Given the description of an element on the screen output the (x, y) to click on. 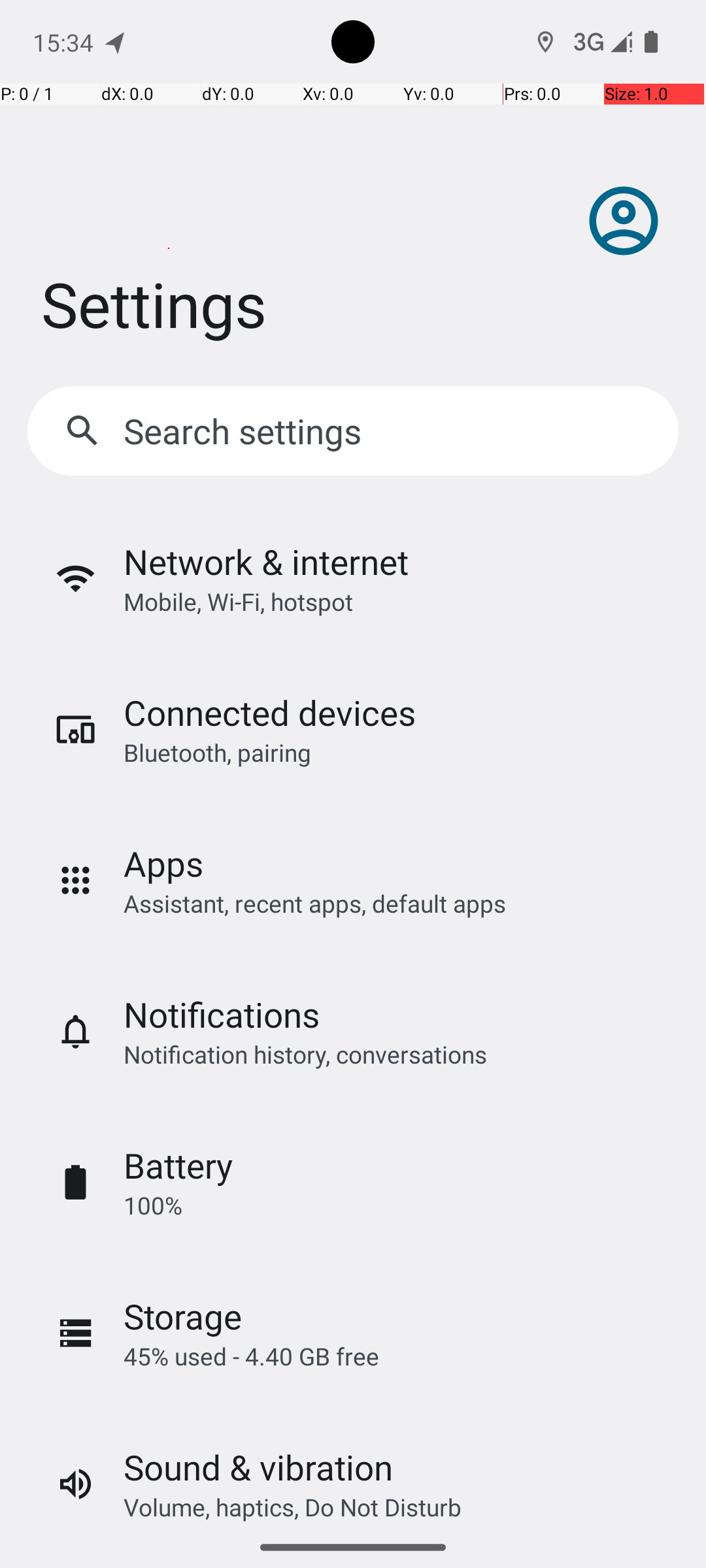
Profile picture, double tap to open Google Account Element type: android.widget.ImageView (623, 220)
Search settings Element type: android.widget.TextView (245, 430)
Network & internet Element type: android.widget.TextView (265, 561)
Mobile, Wi‑Fi, hotspot Element type: android.widget.TextView (238, 601)
Connected devices Element type: android.widget.TextView (269, 712)
Bluetooth, pairing Element type: android.widget.TextView (217, 751)
Apps Element type: android.widget.TextView (163, 863)
Assistant, recent apps, default apps Element type: android.widget.TextView (314, 902)
Notifications Element type: android.widget.TextView (221, 1014)
Notification history, conversations Element type: android.widget.TextView (305, 1053)
Battery Element type: android.widget.TextView (178, 1165)
100% Element type: android.widget.TextView (152, 1204)
Storage Element type: android.widget.TextView (182, 1315)
45% used - 4.40 GB free Element type: android.widget.TextView (251, 1355)
Sound & vibration Element type: android.widget.TextView (257, 1466)
Volume, haptics, Do Not Disturb Element type: android.widget.TextView (292, 1506)
